Given the description of an element on the screen output the (x, y) to click on. 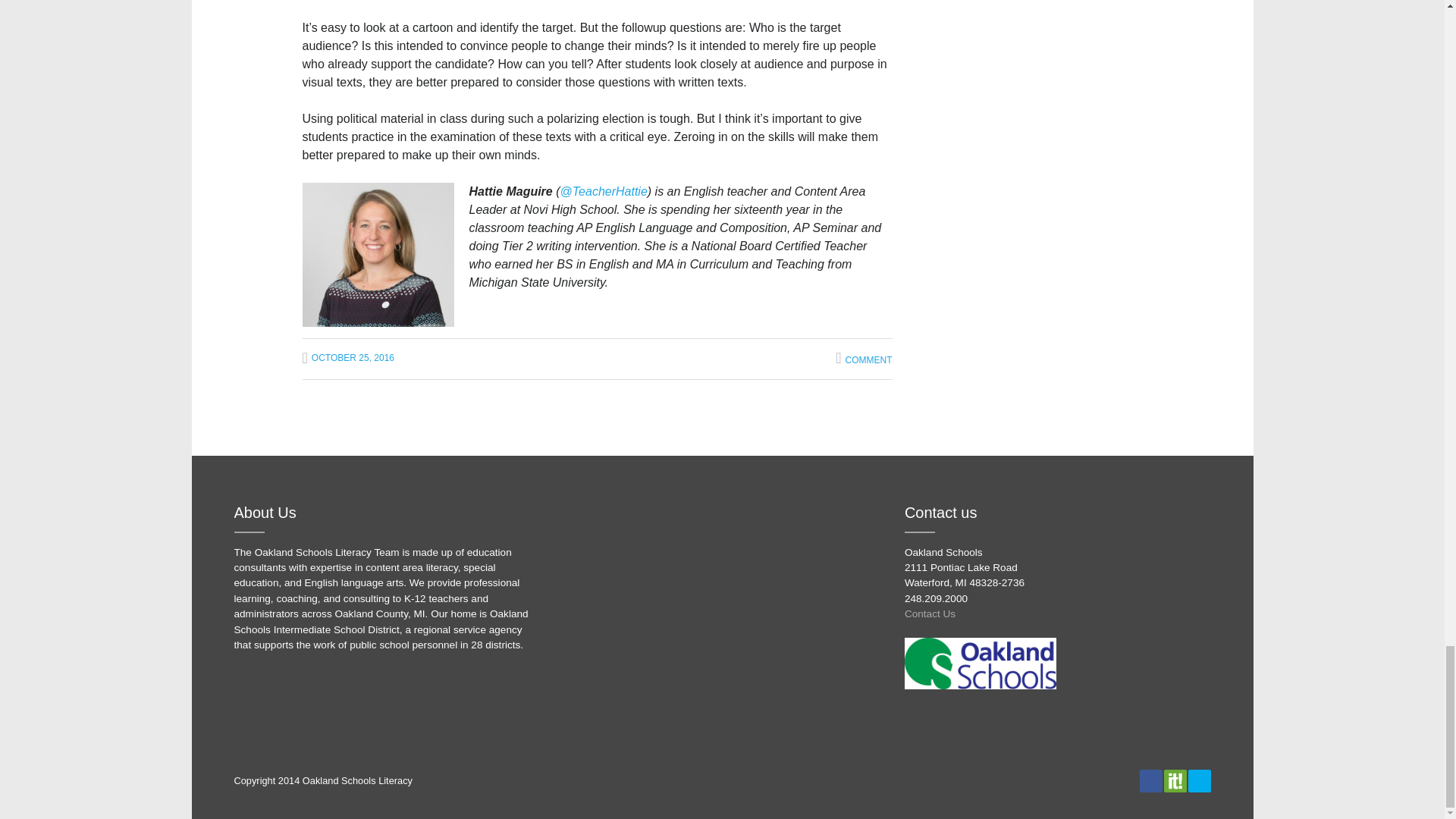
Scoop (1173, 780)
Twitter (1197, 780)
6:04 pm (347, 357)
Facebook (1149, 780)
